Given the description of an element on the screen output the (x, y) to click on. 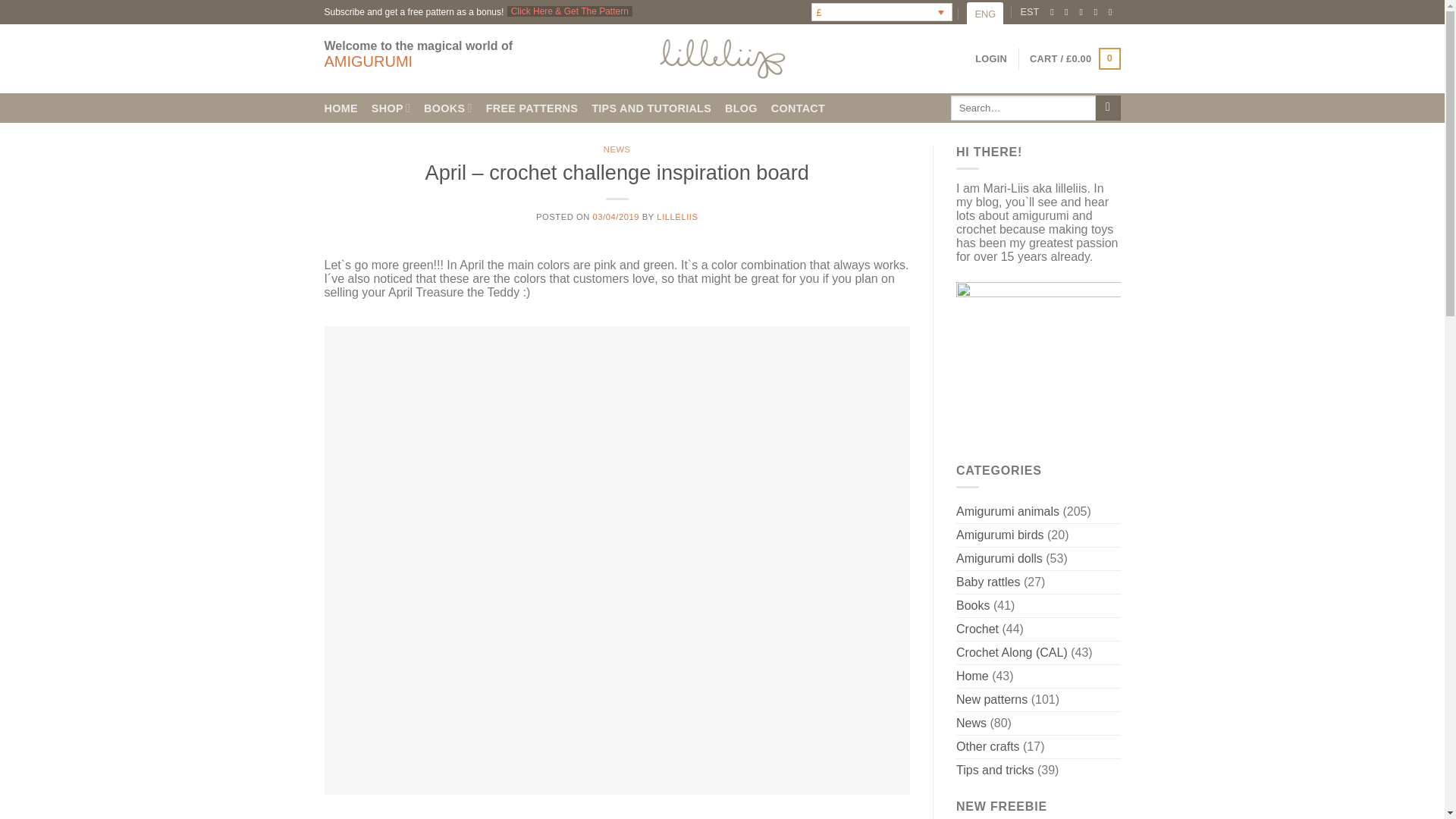
Login (991, 58)
AMIGURUMI (368, 61)
BOOKS (447, 107)
EST (1029, 12)
BLOG (741, 108)
NEWS (617, 148)
TIPS AND TUTORIALS (651, 108)
CONTACT (798, 108)
LOGIN (991, 58)
Search (1108, 108)
